Given the description of an element on the screen output the (x, y) to click on. 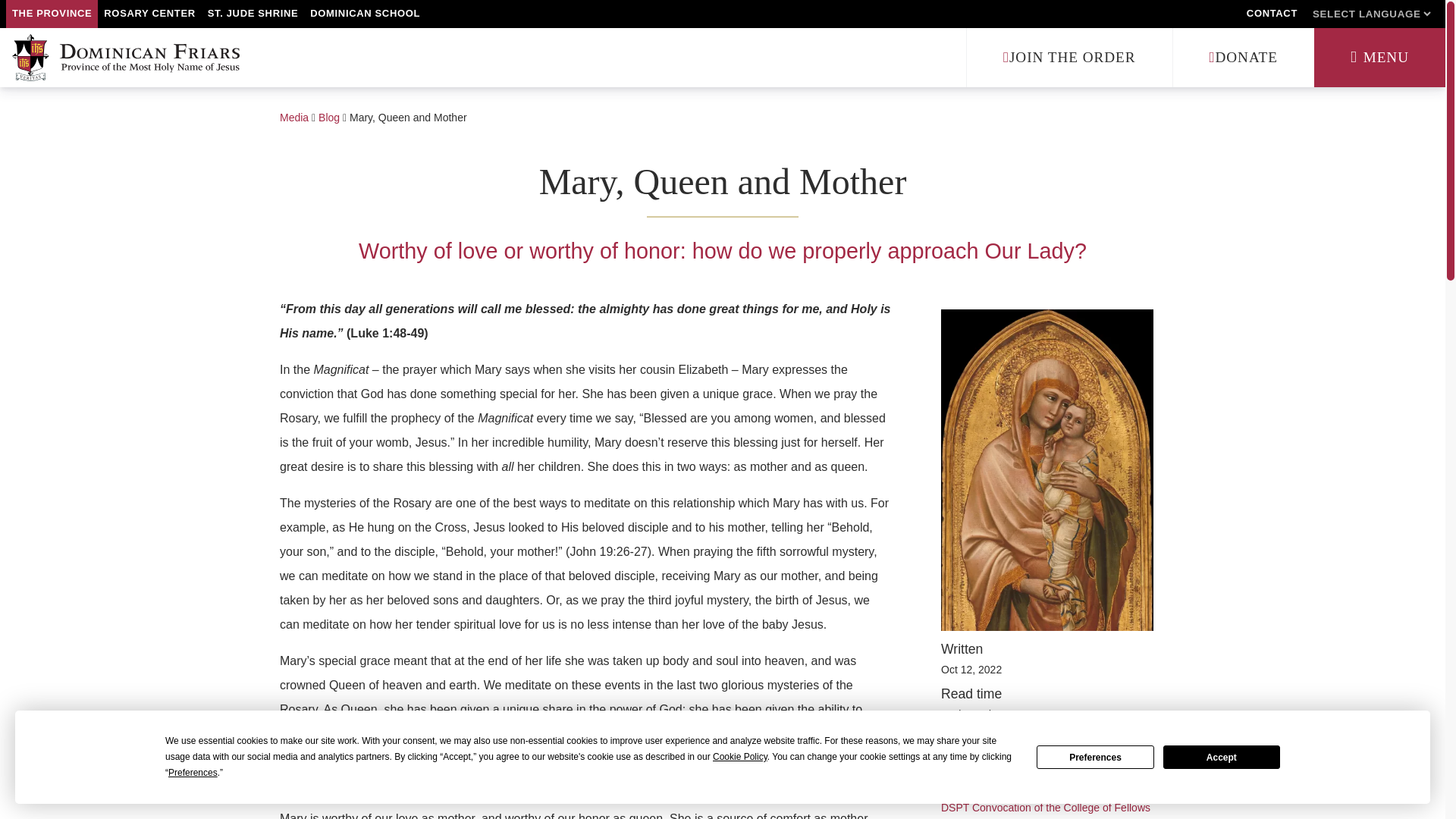
DOMINICAN SCHOOL (365, 13)
Accept (1221, 757)
ST. JUDE SHRINE (253, 13)
THE PROVINCE (51, 13)
Preferences (1094, 757)
CONTACT (1271, 13)
Return Home (125, 57)
ROSARY CENTER (148, 13)
